Given the description of an element on the screen output the (x, y) to click on. 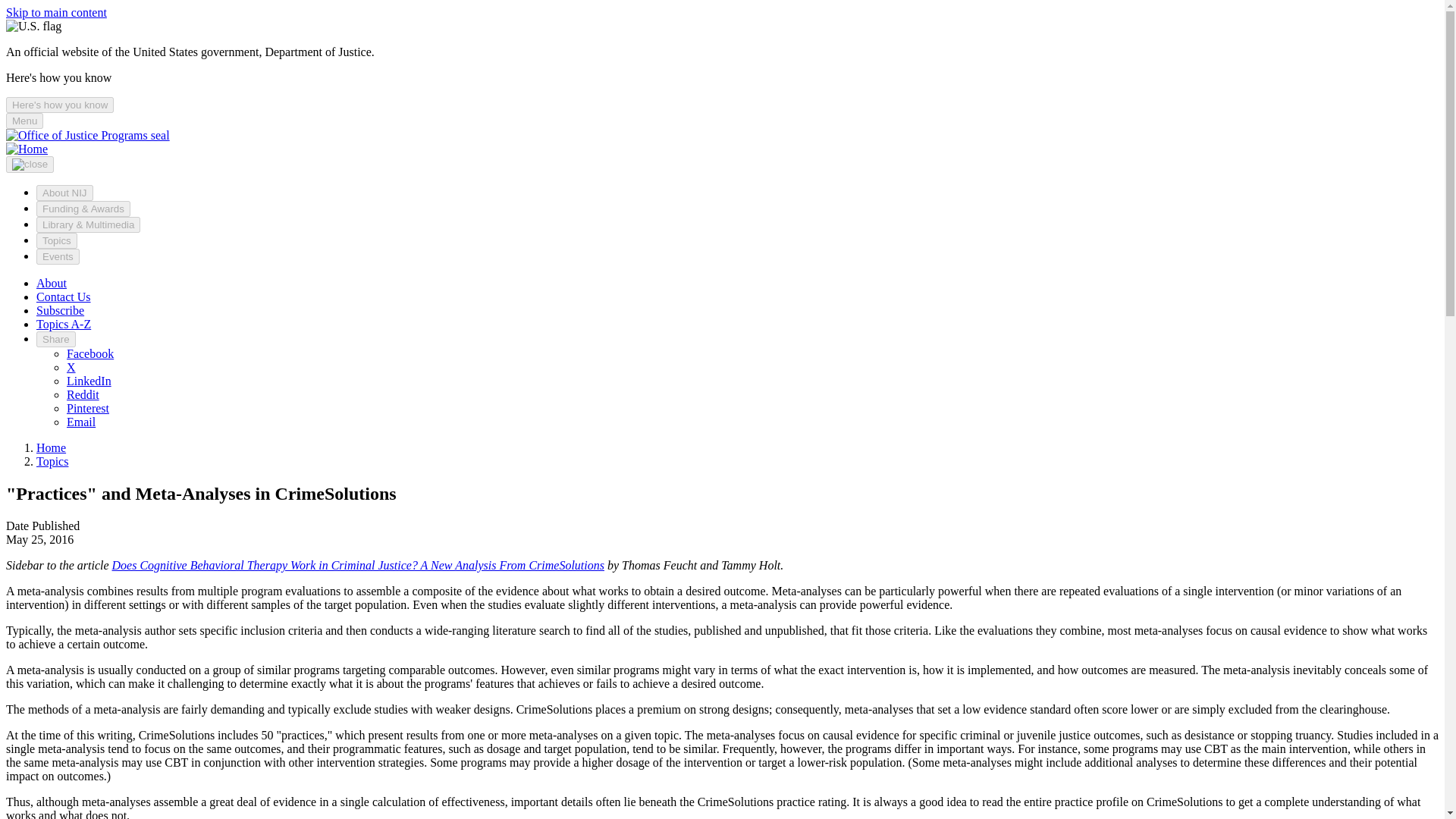
Here's how you know (59, 105)
Topics A-Z (63, 323)
Home (26, 148)
Share (55, 339)
Contact Us (63, 296)
Share on Reddit (82, 394)
Topics (52, 461)
Share on Facebook (89, 353)
Choose a social sharing platform (55, 339)
Email (81, 421)
